Given the description of an element on the screen output the (x, y) to click on. 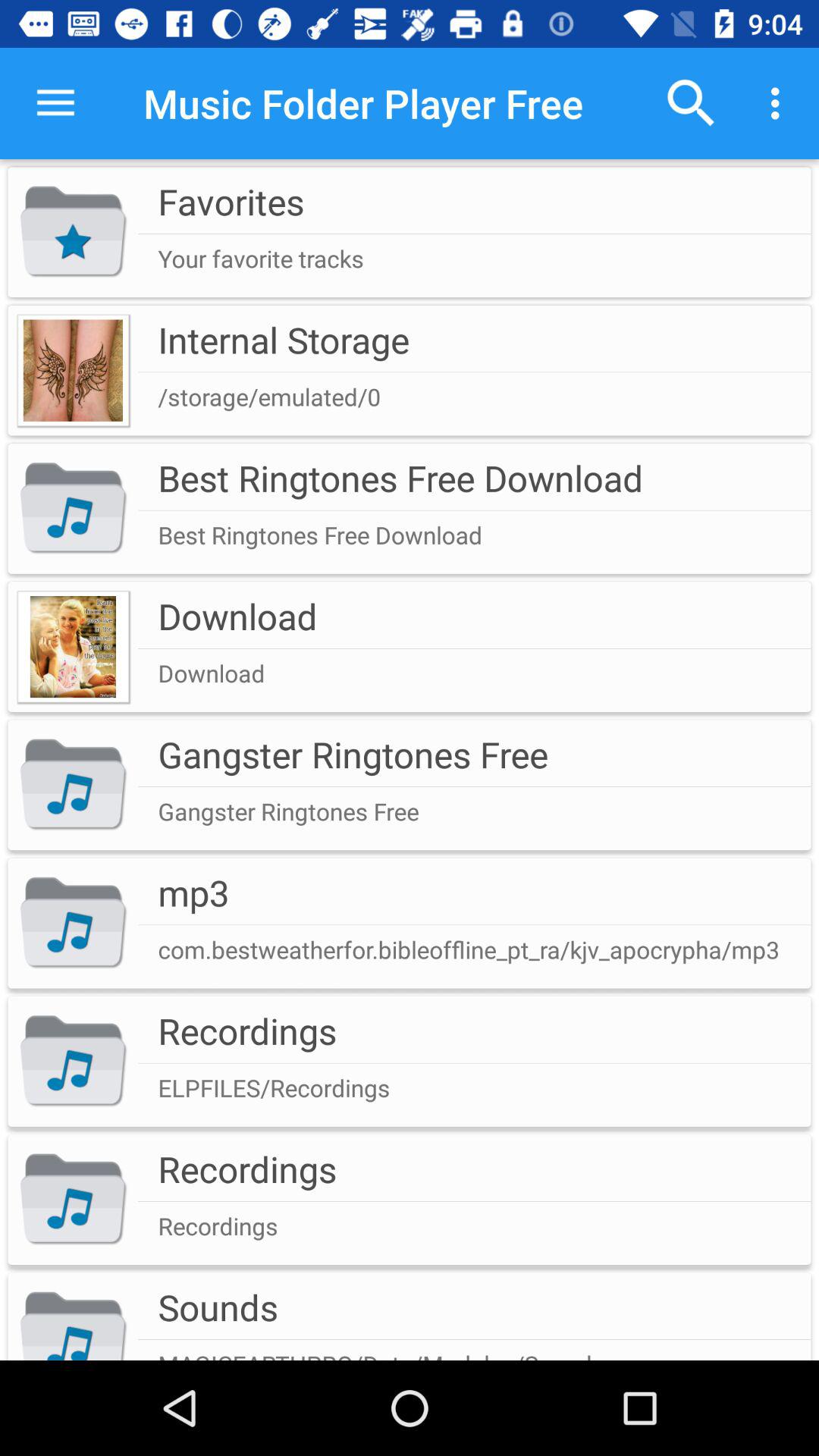
click on gangster ringtones free folder (409, 785)
click on the icon left to the recordings (72, 1062)
select the icon which is left to text recordings (72, 1200)
click on music icon which is beside the best ringtones free download text (72, 508)
